Given the description of an element on the screen output the (x, y) to click on. 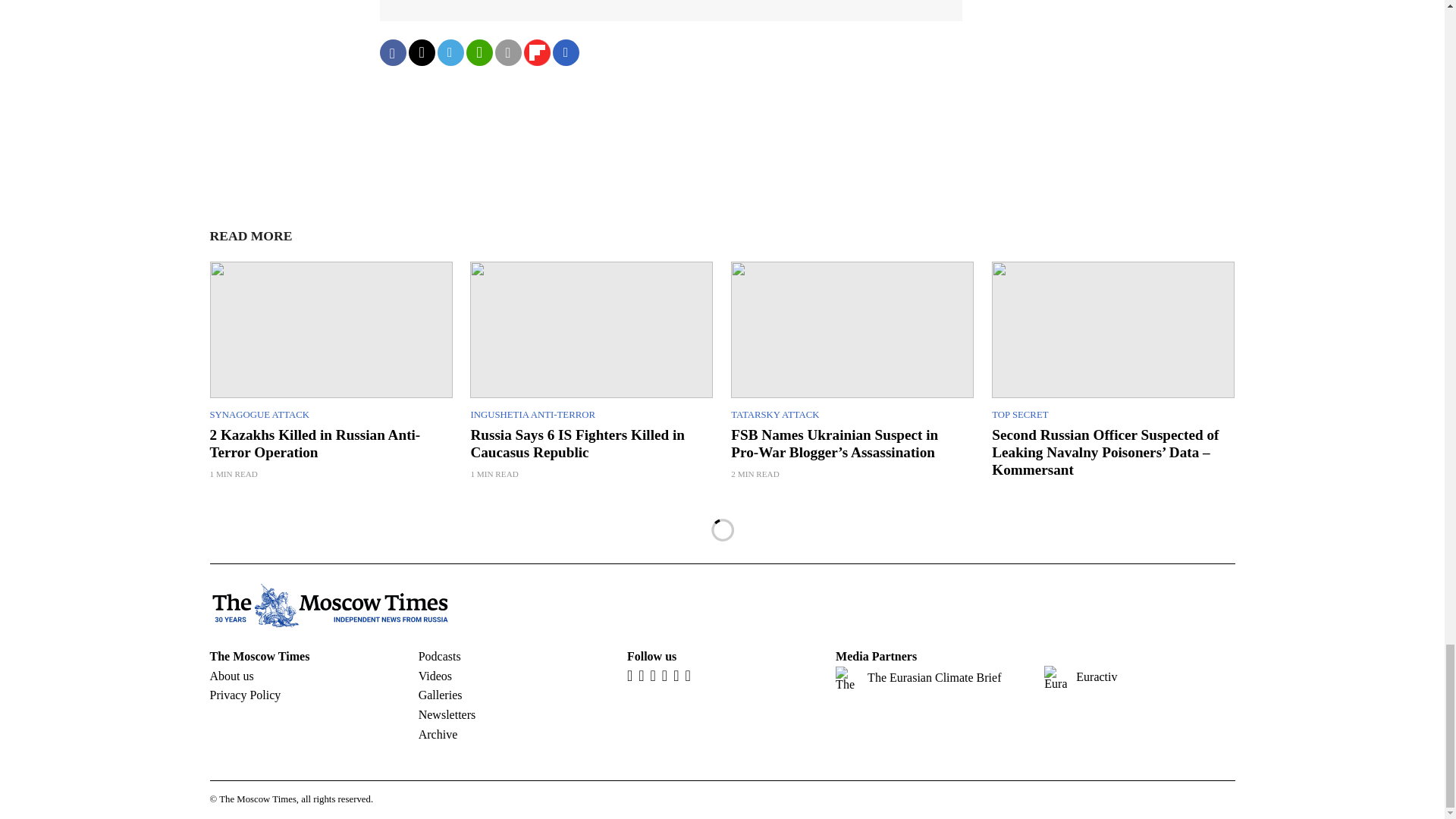
Share on Telegram (449, 52)
Share on Facebook (392, 52)
Share on Twitter (420, 52)
